Given the description of an element on the screen output the (x, y) to click on. 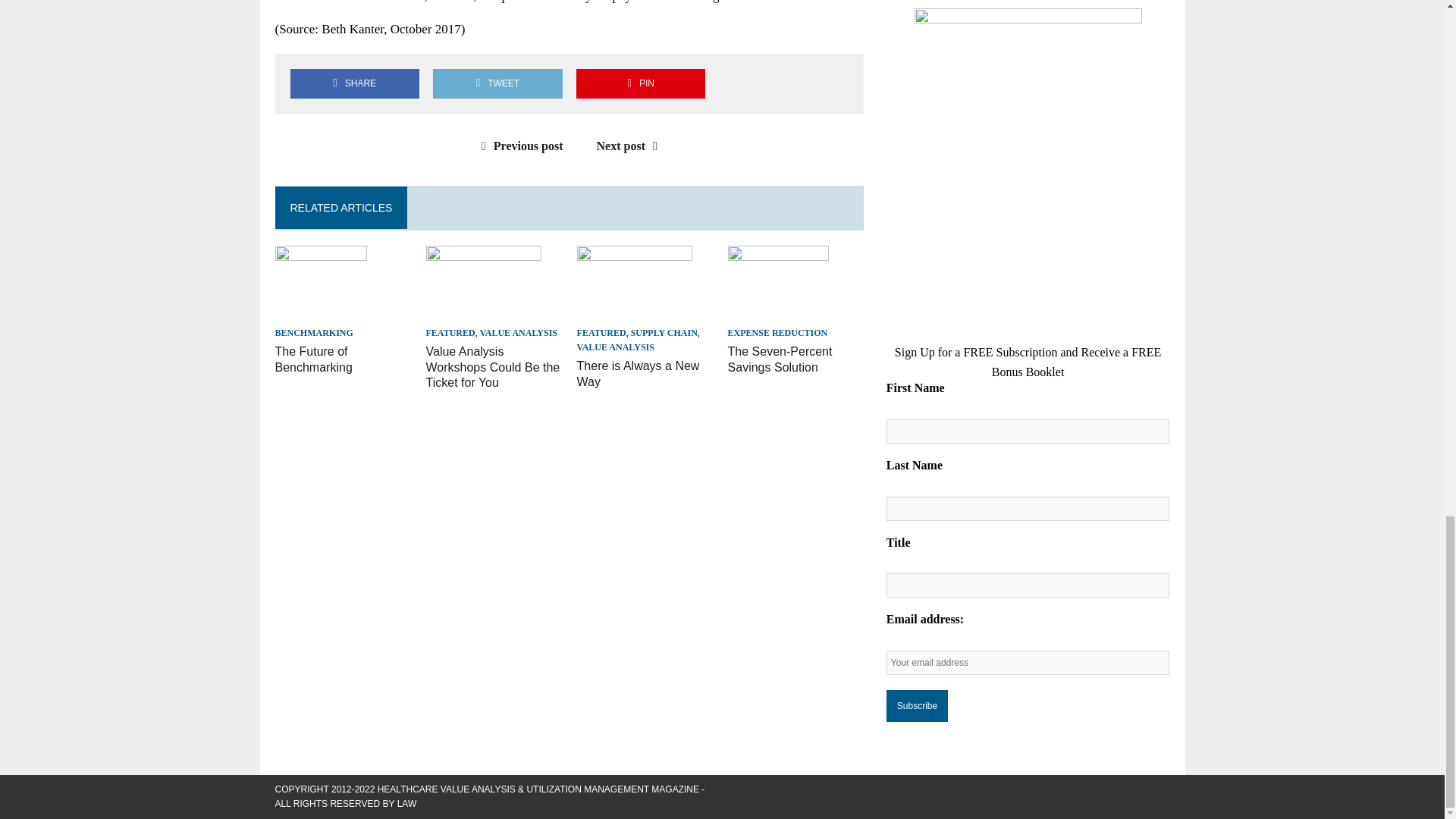
The Future of Benchmarking (320, 311)
PIN (640, 83)
Tweet This Post (497, 83)
There is Always a New Way (638, 373)
The Seven-Percent Savings Solution (780, 358)
Value Analysis Workshops Could Be the Ticket for You (493, 366)
The Future of Benchmarking (313, 358)
The Seven-Percent Savings Solution (778, 311)
Subscribe (916, 705)
TWEET (497, 83)
Previous post (518, 145)
Pin This Post (640, 83)
BENCHMARKING (313, 332)
Share on Facebook (354, 83)
Value Analysis Workshops Could Be the Ticket for You (483, 311)
